Given the description of an element on the screen output the (x, y) to click on. 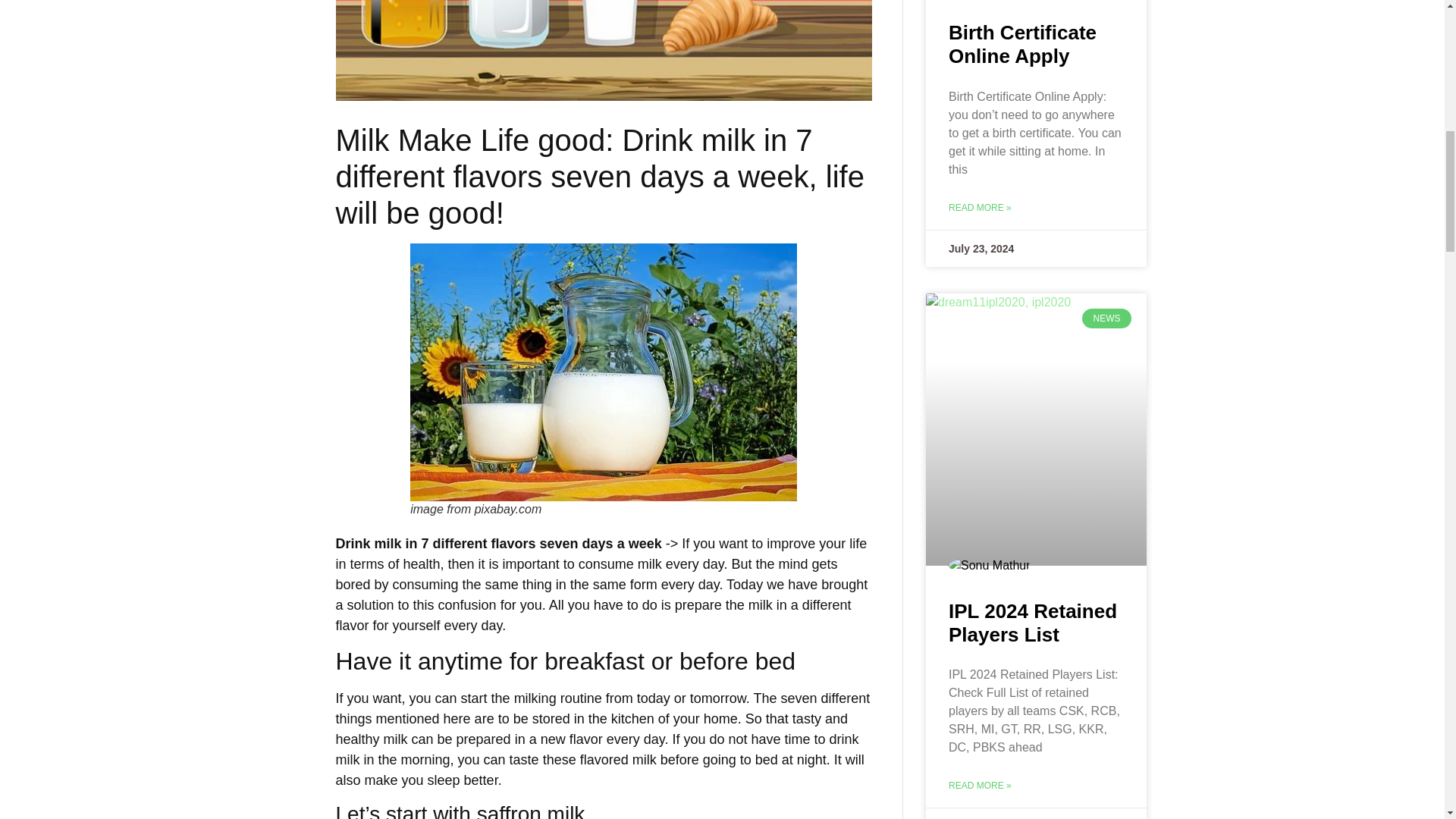
Milk Make Life good (603, 372)
Birth Certificate Online Apply (1022, 44)
IPL 2024 Retained Players List (1032, 622)
